Given the description of an element on the screen output the (x, y) to click on. 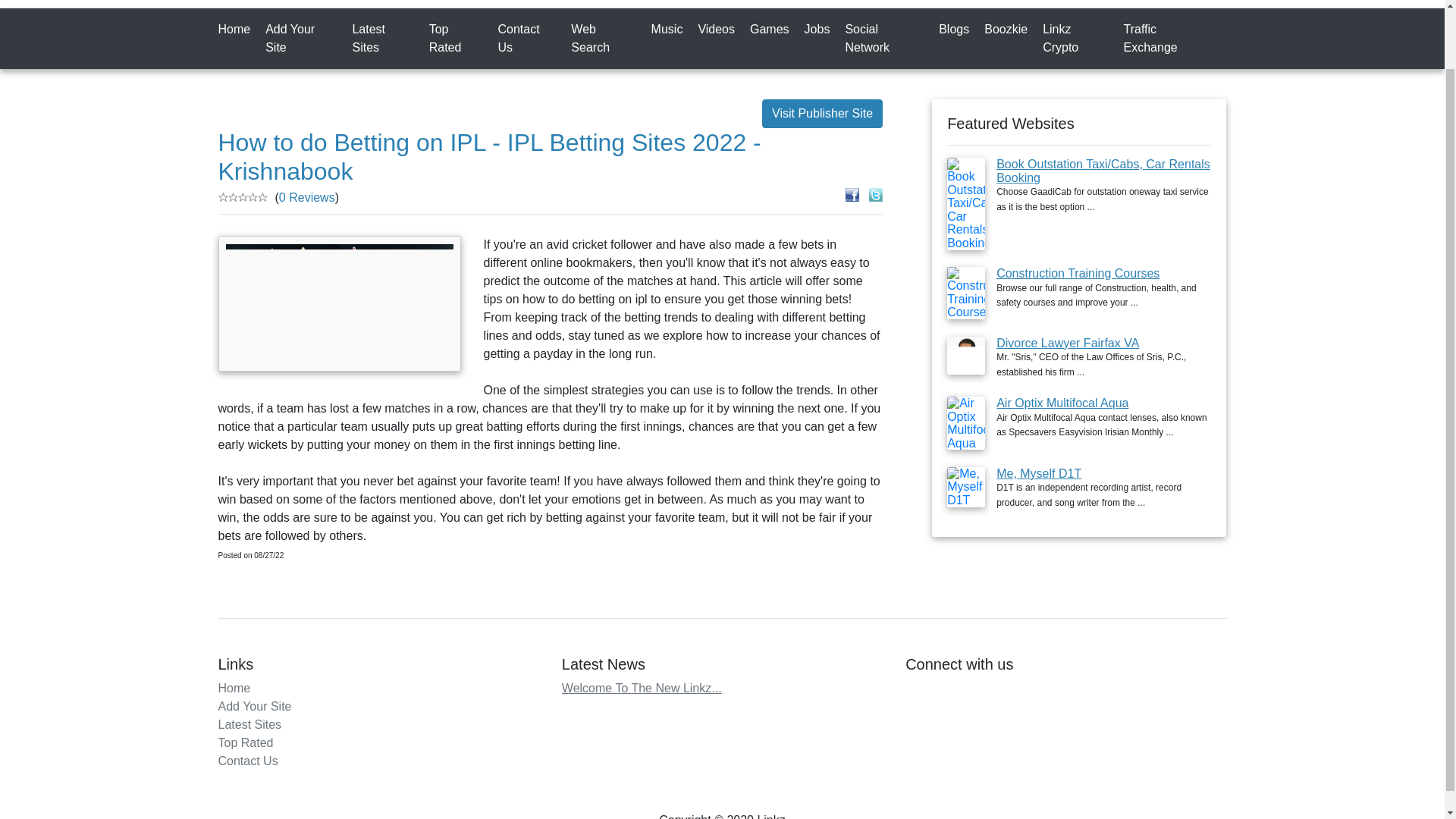
Traffic Exchange (1170, 38)
Divorce Lawyer Fairfax VA (1066, 342)
0 Reviews (306, 196)
Latest Sites (385, 38)
Music (669, 29)
Top Rated (245, 742)
Home (237, 29)
Jobs (820, 29)
Linkz Crypto (1077, 38)
Contact Us (529, 38)
